Given the description of an element on the screen output the (x, y) to click on. 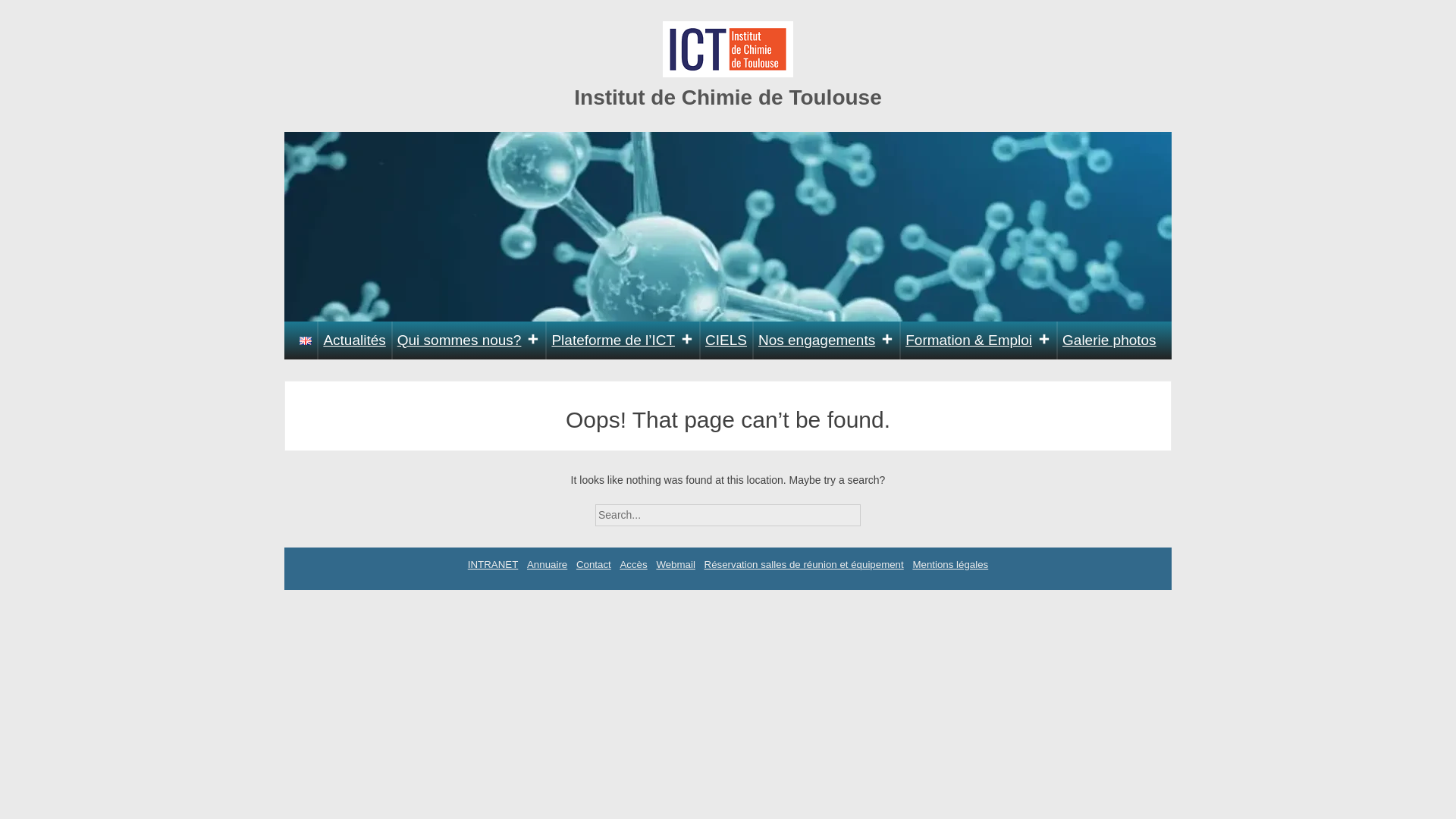
Nos engagements (825, 340)
Qui sommes nous? (468, 340)
CIELS (726, 340)
Institut de Chimie de Toulouse (727, 97)
Search (873, 509)
Search (873, 509)
